Given the description of an element on the screen output the (x, y) to click on. 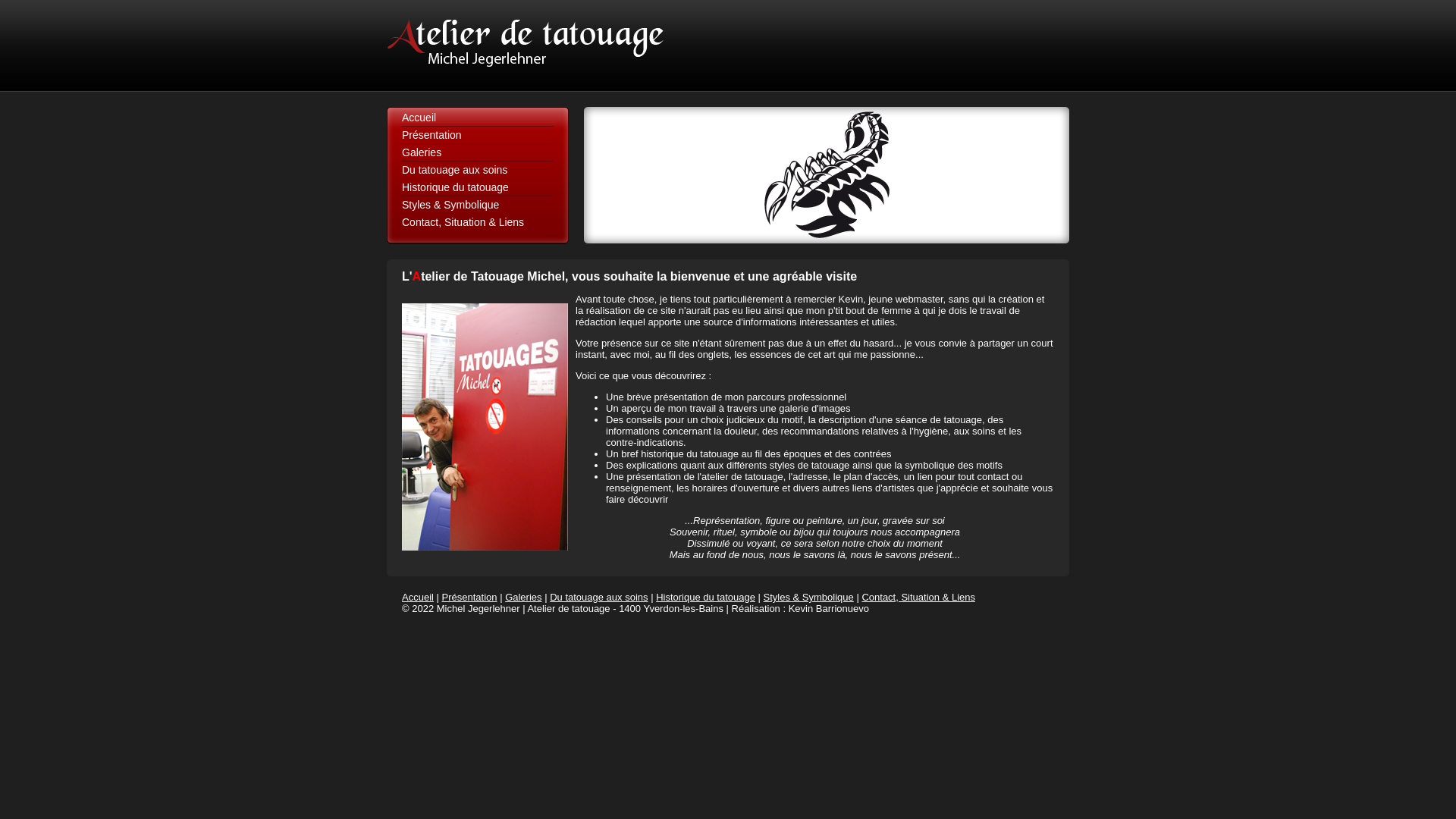
Historique du tatouage Element type: text (454, 187)
Galeries Element type: text (523, 596)
Galeries Element type: text (421, 152)
Styles & Symbolique Element type: text (808, 596)
Accueil Element type: text (418, 117)
Contact, Situation & Liens Element type: text (918, 596)
Du tatouage aux soins Element type: text (598, 596)
Home Element type: hover (826, 174)
Du tatouage aux soins Element type: text (454, 169)
Historique du tatouage Element type: text (705, 596)
Contact, Situation & Liens Element type: text (462, 222)
Styles & Symbolique Element type: text (449, 204)
Accueil Element type: text (417, 596)
